Given the description of an element on the screen output the (x, y) to click on. 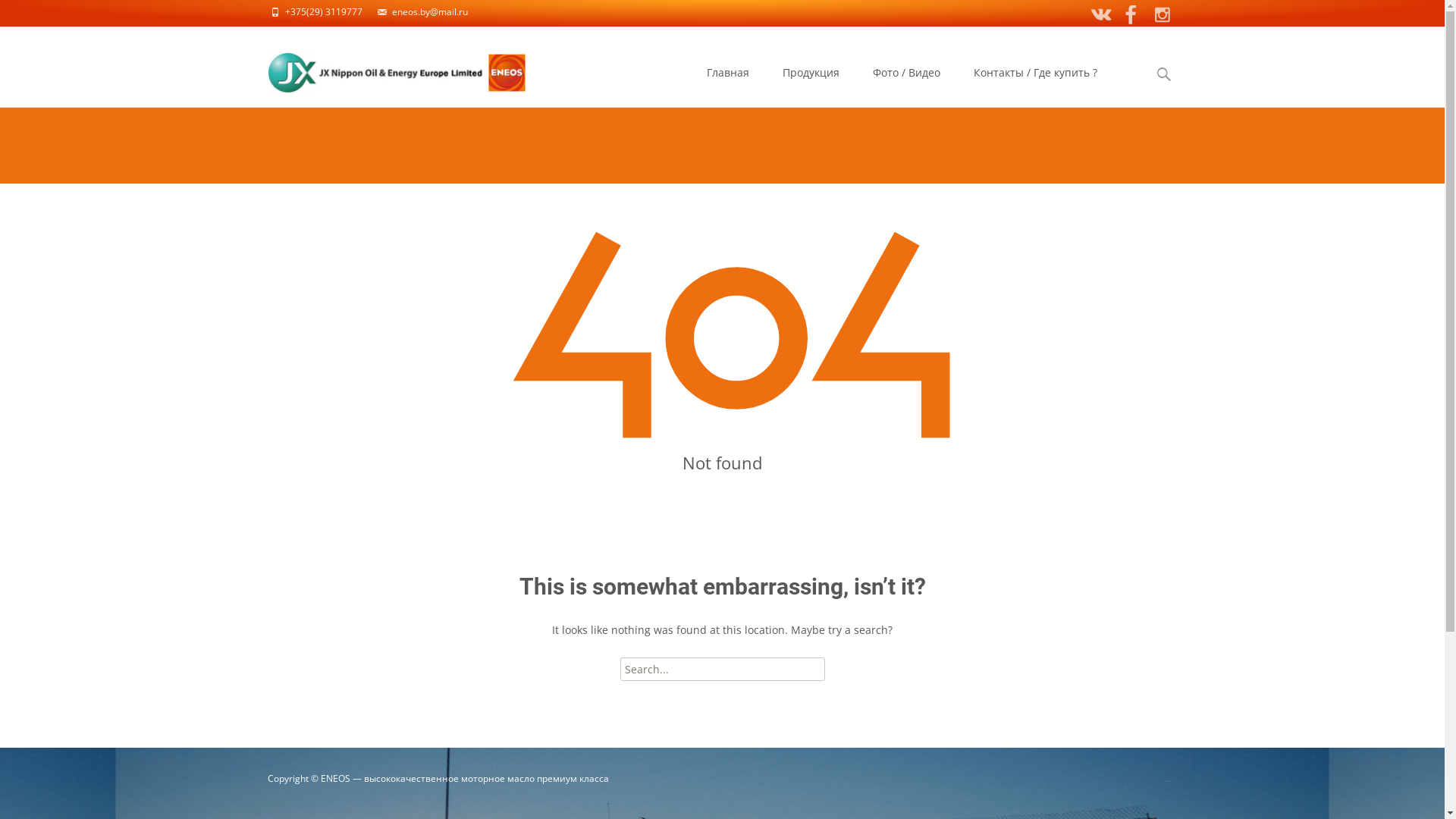
Search Element type: text (18, 15)
Search Element type: text (35, 15)
Search for: Element type: hover (722, 668)
Search for: Element type: hover (1163, 74)
Skip to content Element type: text (729, 47)
